Given the description of an element on the screen output the (x, y) to click on. 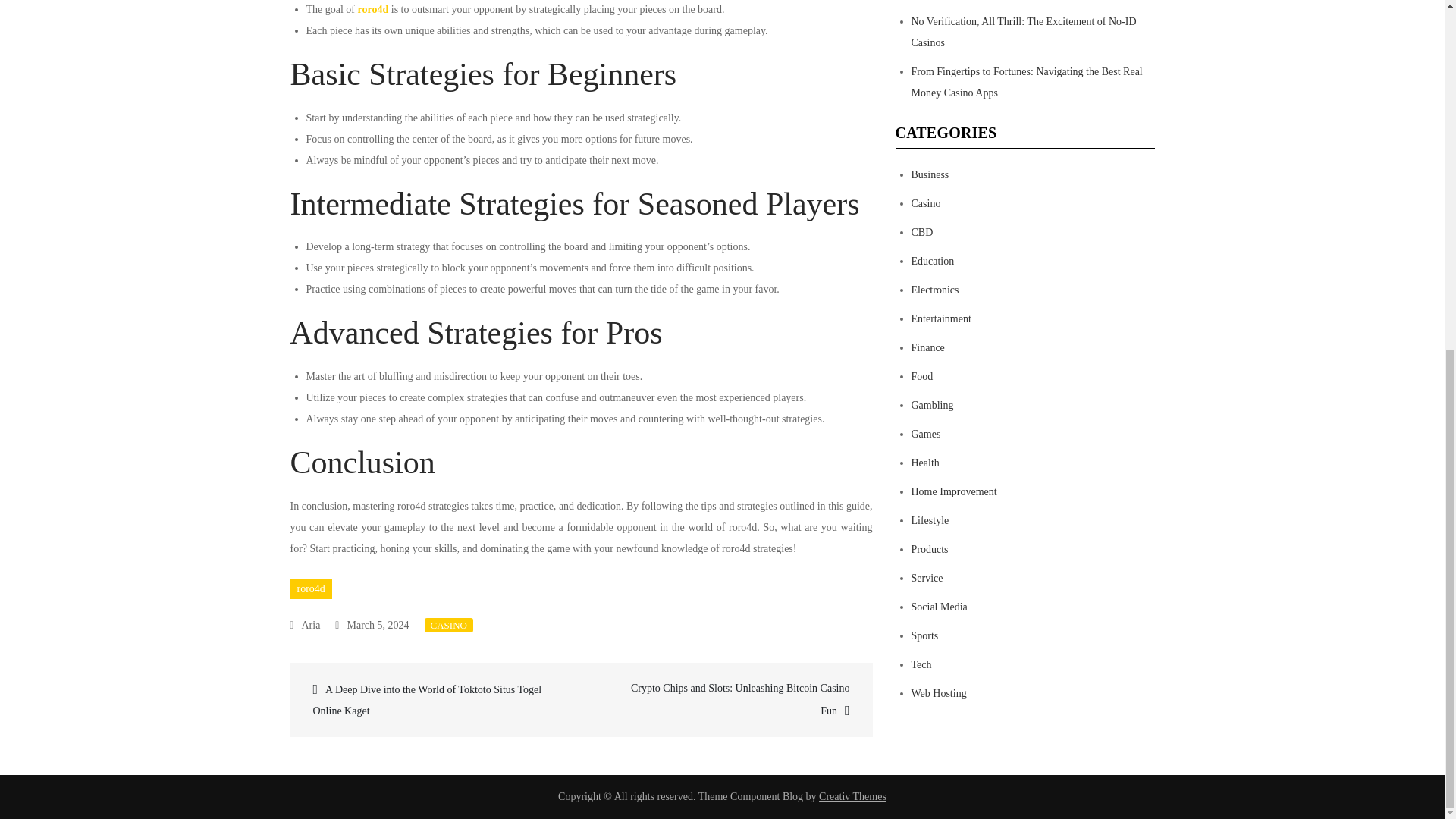
CBD (922, 232)
Finance (927, 347)
roro4d (310, 588)
roro4d (373, 9)
Education (933, 260)
Business (930, 174)
No Verification, All Thrill: The Excitement of No-ID Casinos (1024, 31)
CASINO (449, 625)
Crypto Chips and Slots: Unleashing Bitcoin Casino Fun (724, 699)
Aria (304, 624)
Entertainment (941, 318)
Electronics (935, 289)
Casino (925, 203)
March 5, 2024 (371, 624)
